Given the description of an element on the screen output the (x, y) to click on. 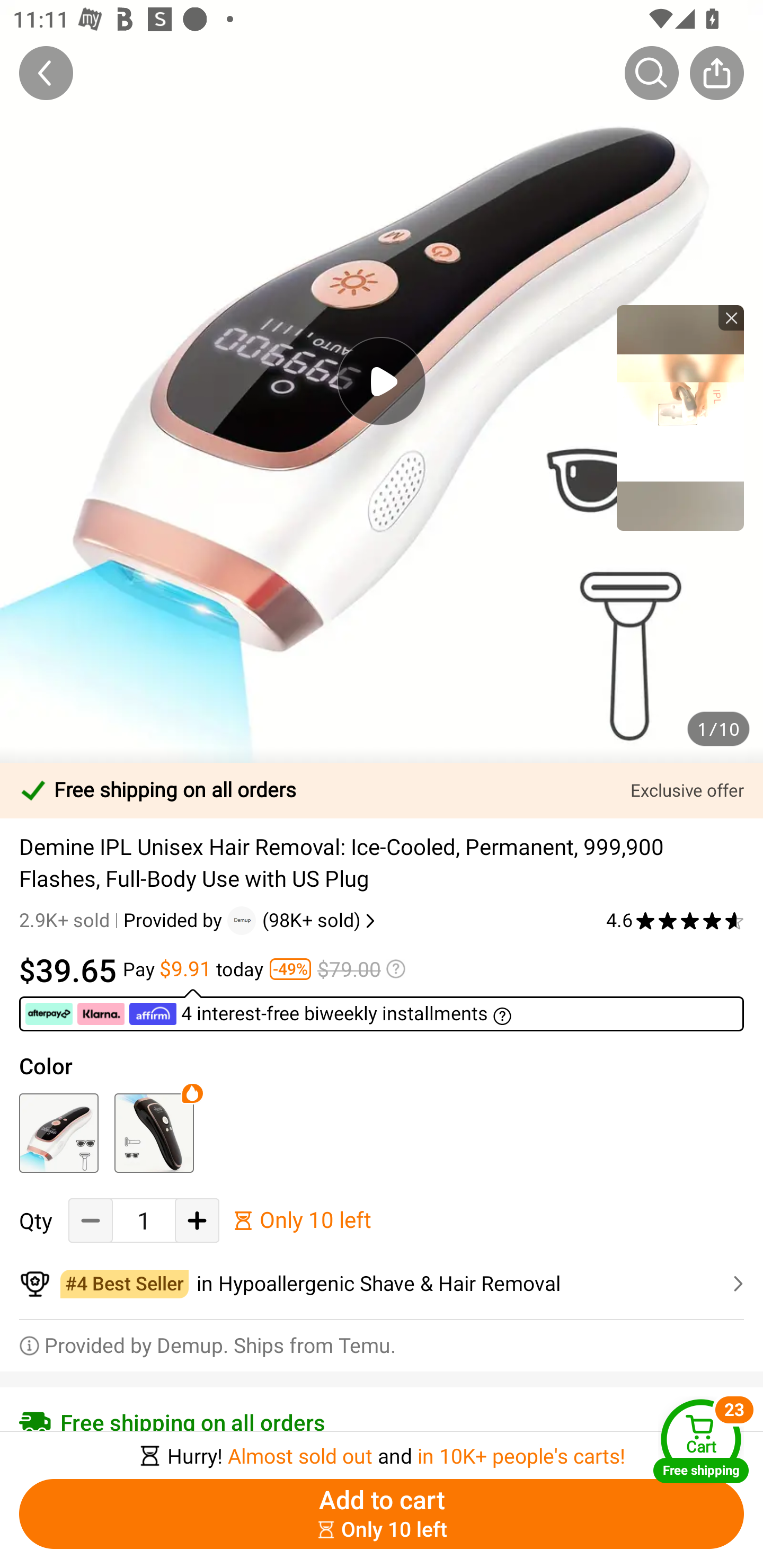
Back (46, 72)
Share (716, 72)
tronplayer_view (680, 417)
Free shipping on all orders Exclusive offer (381, 790)
2.9K+ sold Provided by  (123, 920)
4.6 (674, 920)
￼ ￼ ￼ 4 interest-free biweekly installments ￼ (381, 1009)
White (58, 1132)
Black   (153, 1132)
Decrease Quantity Button (90, 1220)
1 (143, 1220)
Add Quantity button (196, 1220)
￼￼in Hypoallergenic Shave & Hair Removal (381, 1283)
Cart Free shipping Cart (701, 1440)
Add to cart ￼￼Only 10 left (381, 1513)
